Given the description of an element on the screen output the (x, y) to click on. 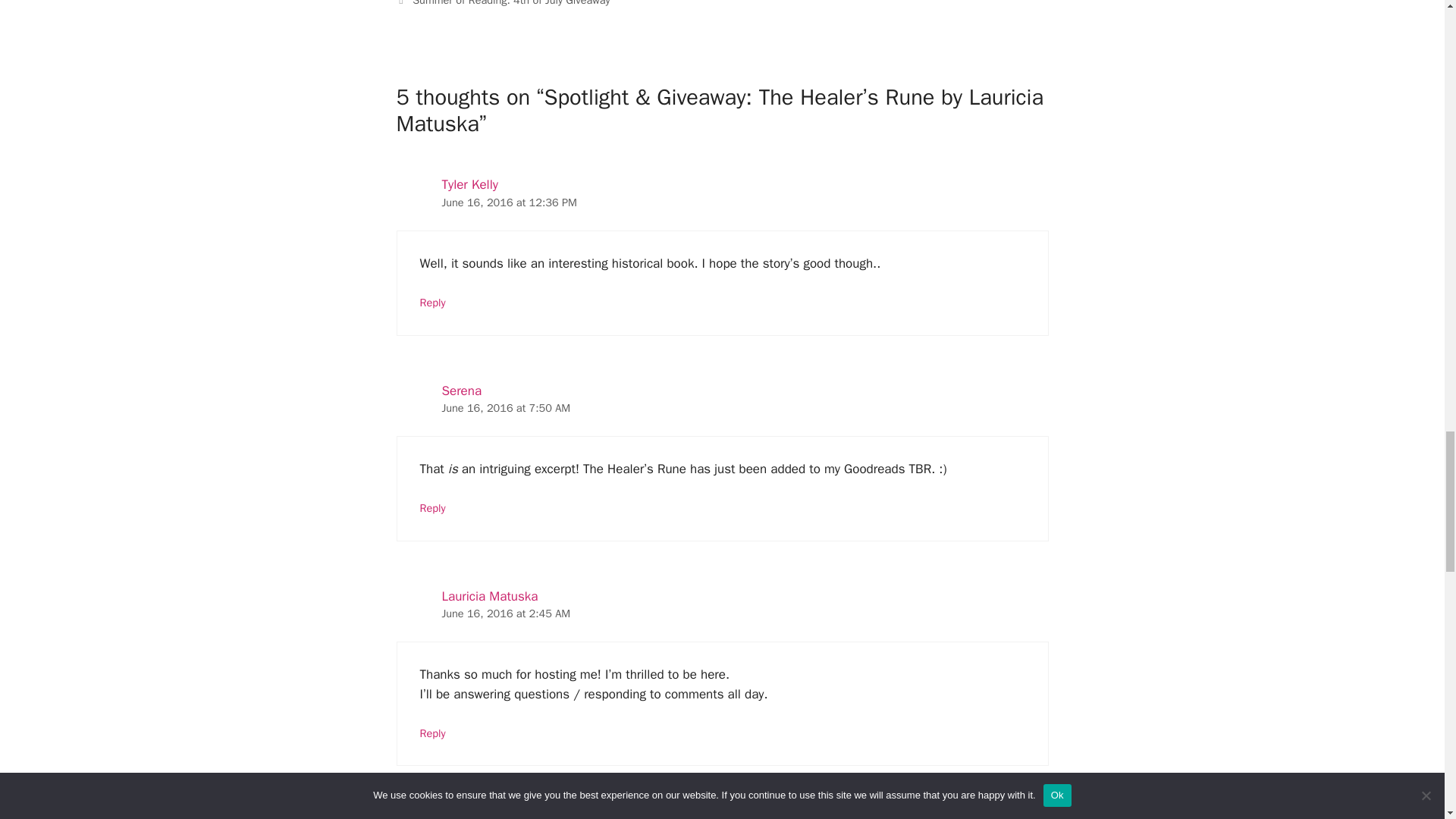
Reply (432, 302)
June 16, 2016 at 12:36 PM (508, 202)
Tyler Kelly (469, 184)
Summer of Reading: 4th of July Giveaway (511, 3)
Serena (461, 390)
